Given the description of an element on the screen output the (x, y) to click on. 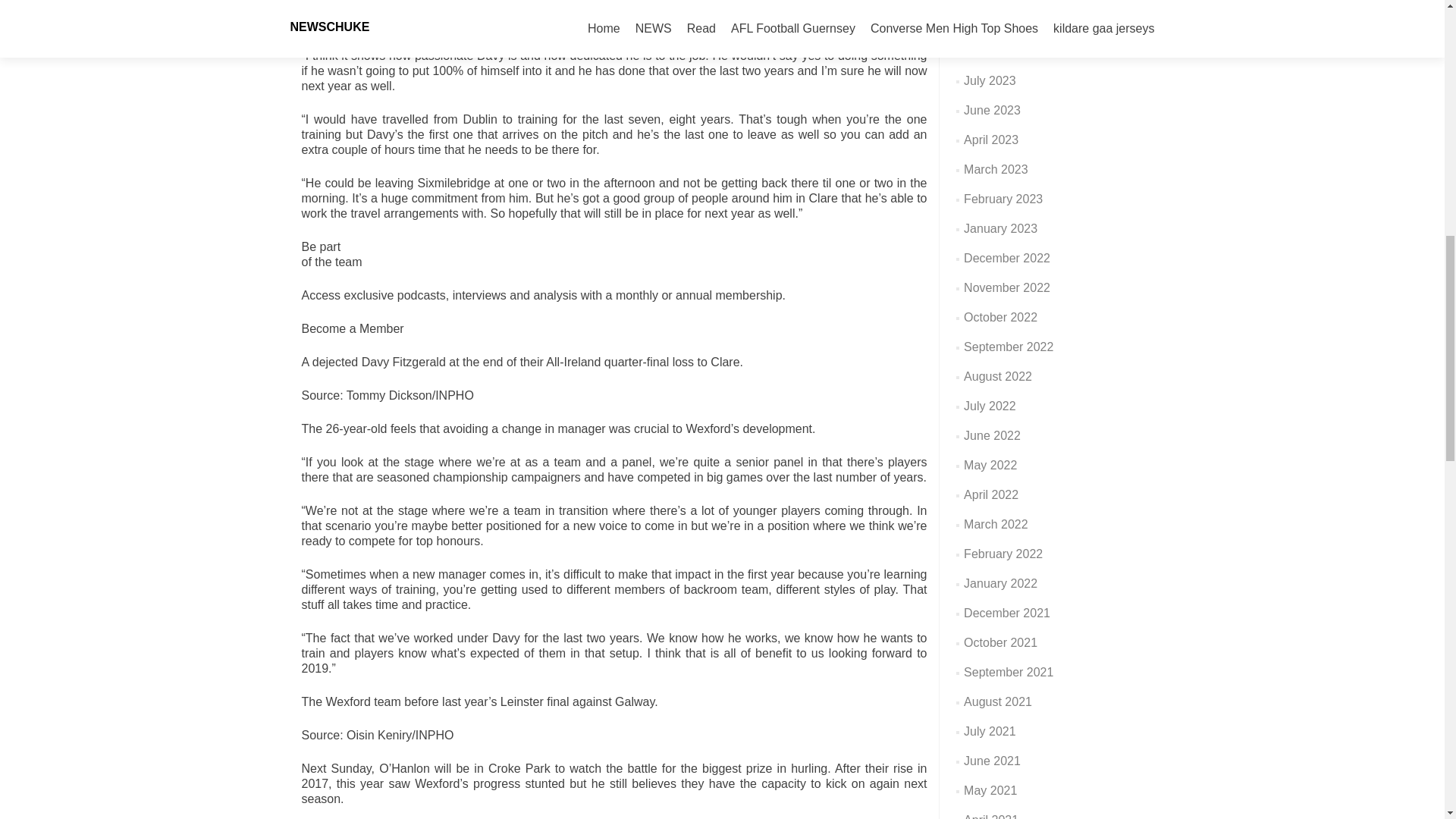
July 2023 (989, 80)
June 2023 (991, 110)
March 2023 (995, 169)
October 2023 (999, 21)
August 2023 (997, 51)
February 2023 (1002, 198)
April 2023 (990, 139)
